Given the description of an element on the screen output the (x, y) to click on. 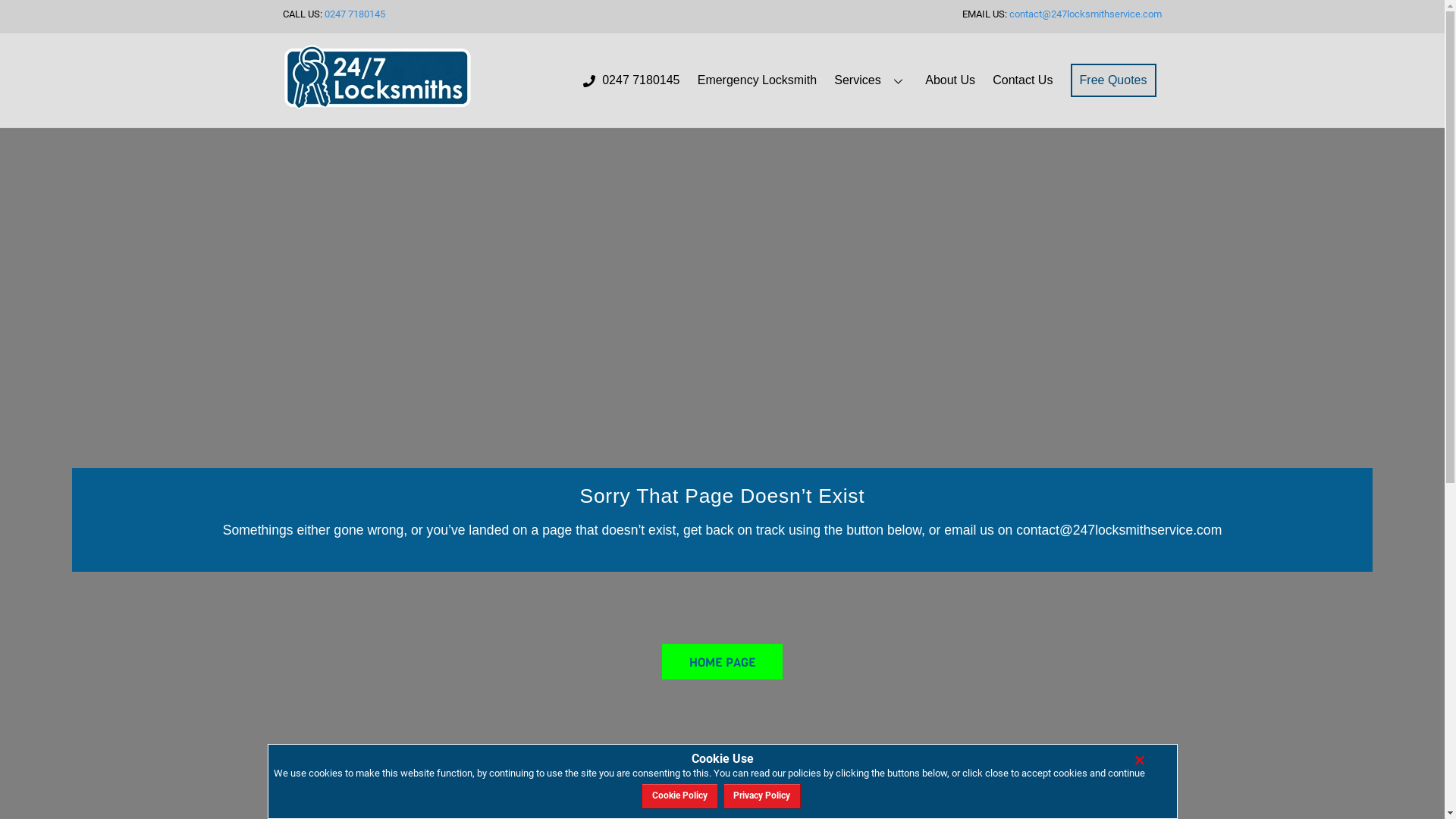
About Us Element type: text (950, 79)
Privacy Policy Element type: text (762, 795)
Free Quotes Element type: text (1113, 80)
Services Element type: text (871, 79)
X Element type: text (1138, 760)
247locksmiths Element type: hover (376, 77)
contact@247locksmithservice.com Element type: text (1085, 13)
0247 7180145 Element type: text (631, 79)
0247 7180145 Element type: text (354, 13)
247 Locksmith Service Element type: hover (376, 104)
Emergency Locksmith Element type: text (757, 79)
HOME PAGE Element type: text (721, 661)
Cookie Policy Element type: text (679, 795)
Contact Us Element type: text (1022, 79)
